Given the description of an element on the screen output the (x, y) to click on. 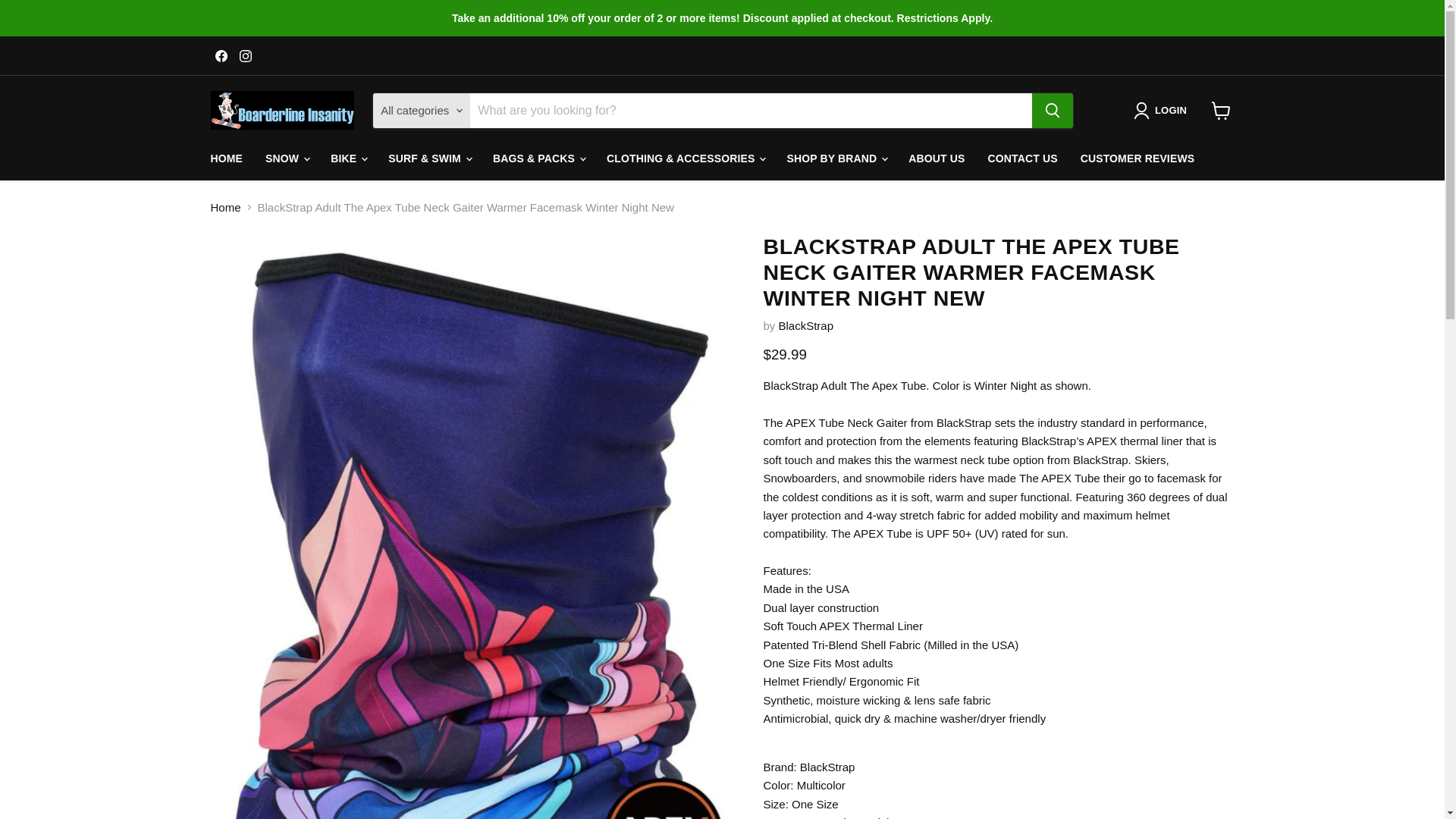
Find us on Facebook (221, 55)
Facebook (221, 55)
View cart (1221, 110)
HOME (225, 158)
LOGIN (1163, 110)
Find us on Instagram (245, 55)
BlackStrap (806, 325)
Instagram (245, 55)
